Given the description of an element on the screen output the (x, y) to click on. 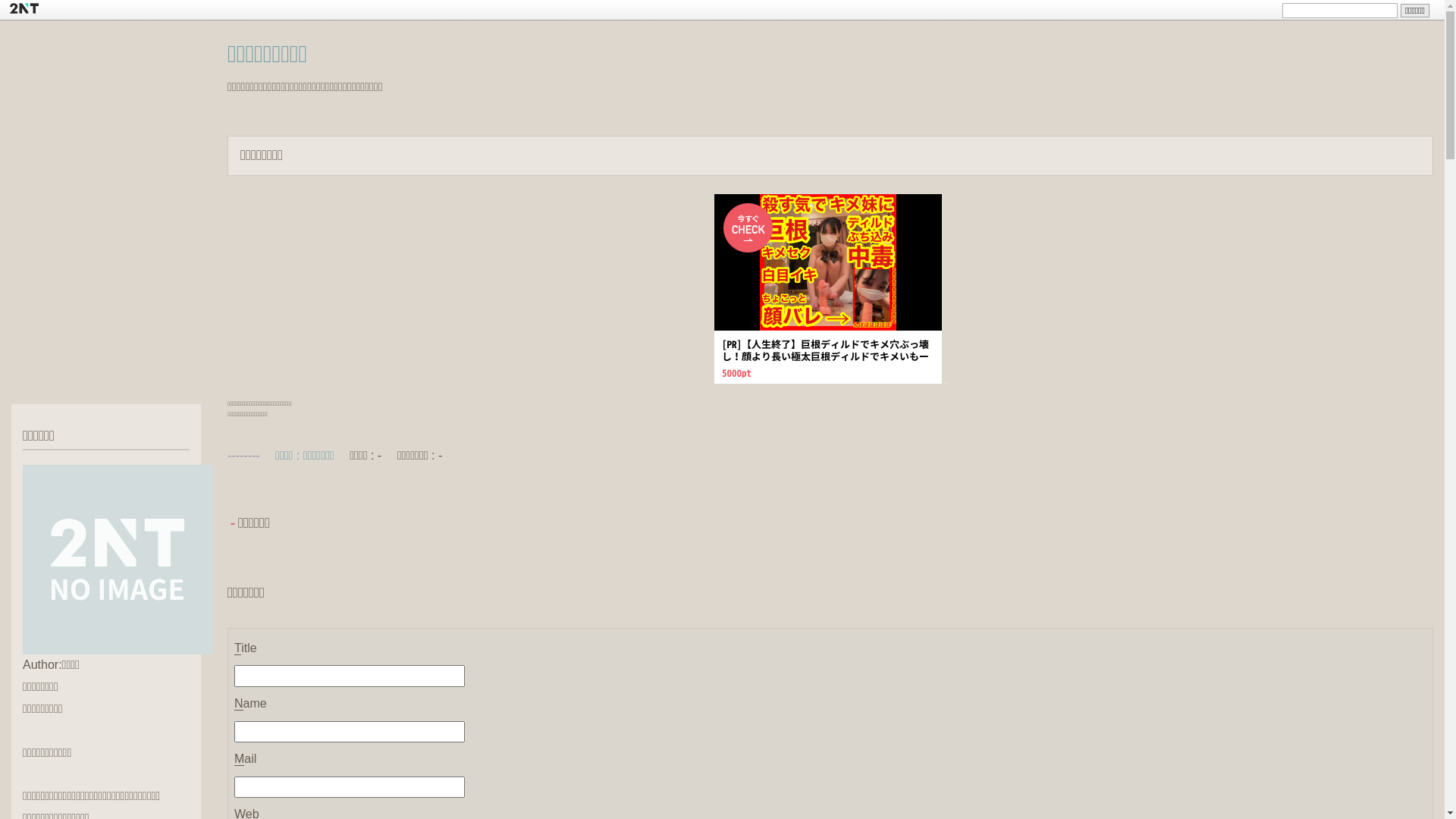
-------- Element type: text (243, 454)
